Given the description of an element on the screen output the (x, y) to click on. 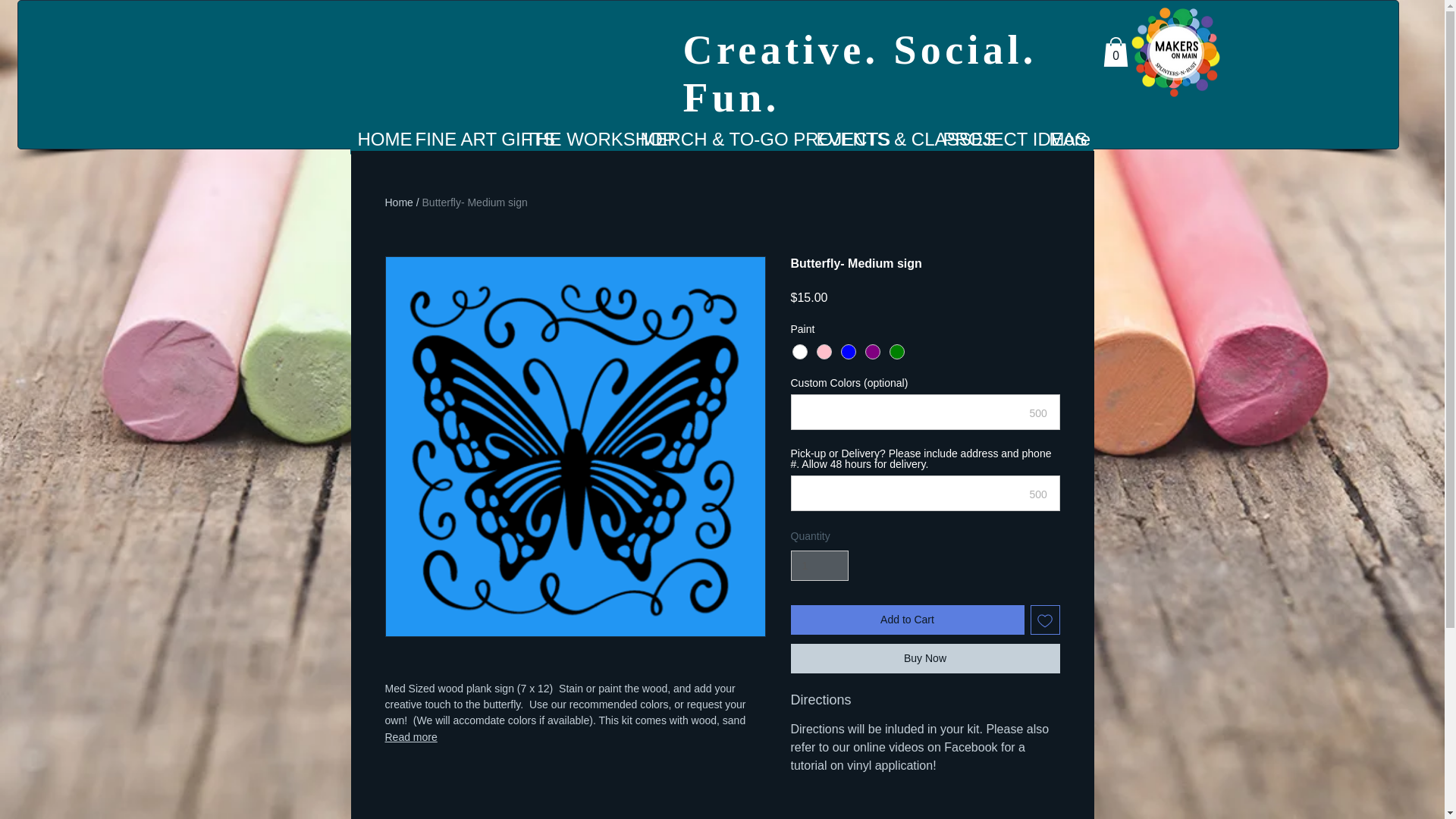
Read more (574, 736)
Home (399, 202)
0 (1114, 51)
Add to Cart (906, 619)
Buy Now (924, 657)
FINE ART GIFTS (462, 138)
Butterfly- Medium sign (474, 202)
HOME (378, 138)
0 (1114, 51)
1 (818, 565)
PROJECT IDEAS (989, 138)
THE WORKSHOP (573, 138)
